Given the description of an element on the screen output the (x, y) to click on. 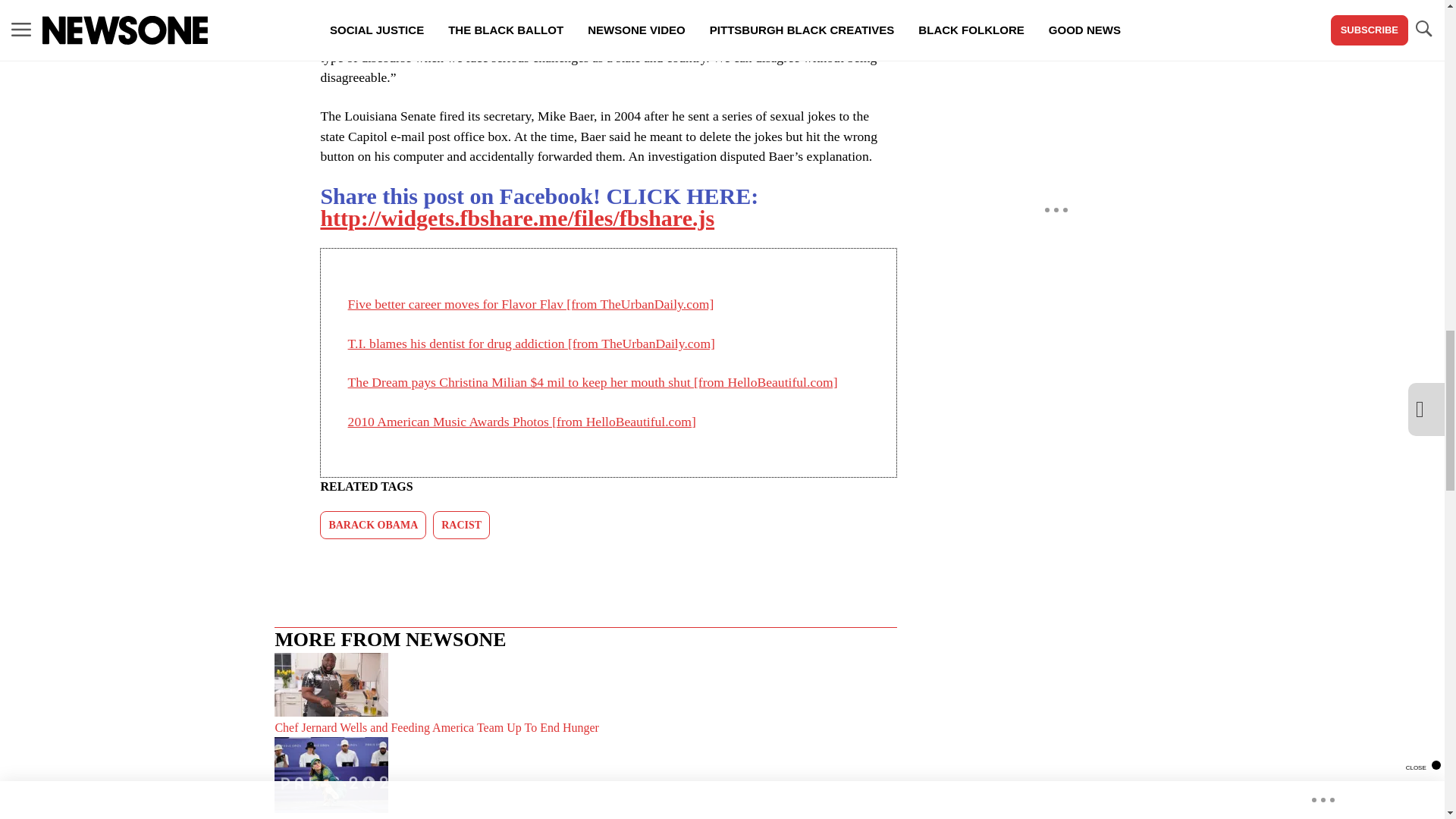
RACIST (460, 524)
Chef Jernard Wells and Feeding America Team Up To End Hunger (585, 694)
BARACK OBAMA (373, 524)
